Given the description of an element on the screen output the (x, y) to click on. 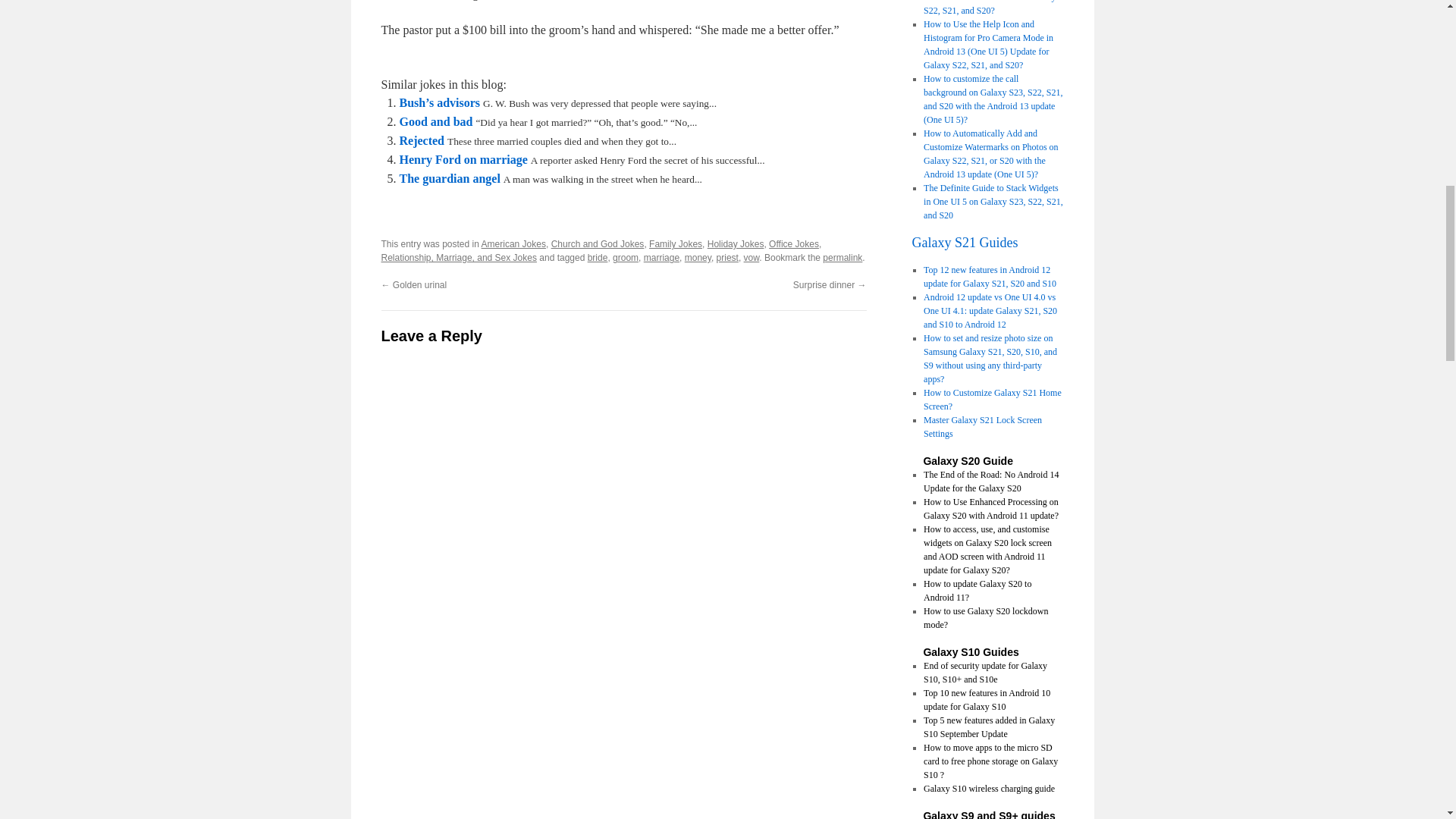
Henry Ford on marriage (462, 159)
groom (625, 257)
priest (727, 257)
Good and bad (434, 121)
money (697, 257)
Office Jokes (793, 244)
Good and bad (434, 121)
The guardian angel (448, 178)
Family Jokes (675, 244)
marriage (661, 257)
Permalink to She made me a better offer (841, 257)
American Jokes (513, 244)
The guardian angel (448, 178)
Henry Ford on marriage (462, 159)
Holiday Jokes (735, 244)
